Given the description of an element on the screen output the (x, y) to click on. 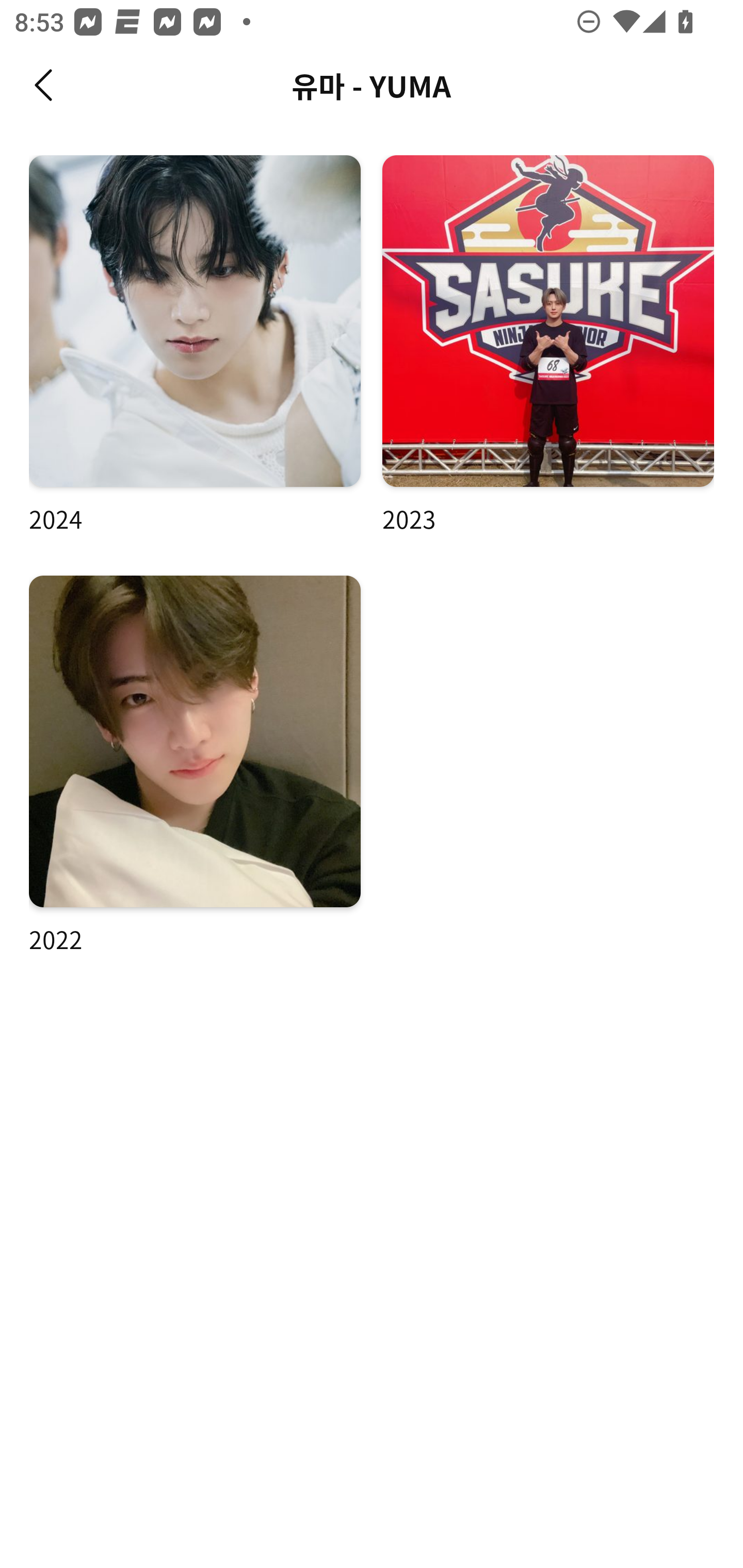
2024 (194, 345)
2023 (548, 345)
2022 (194, 765)
